Given the description of an element on the screen output the (x, y) to click on. 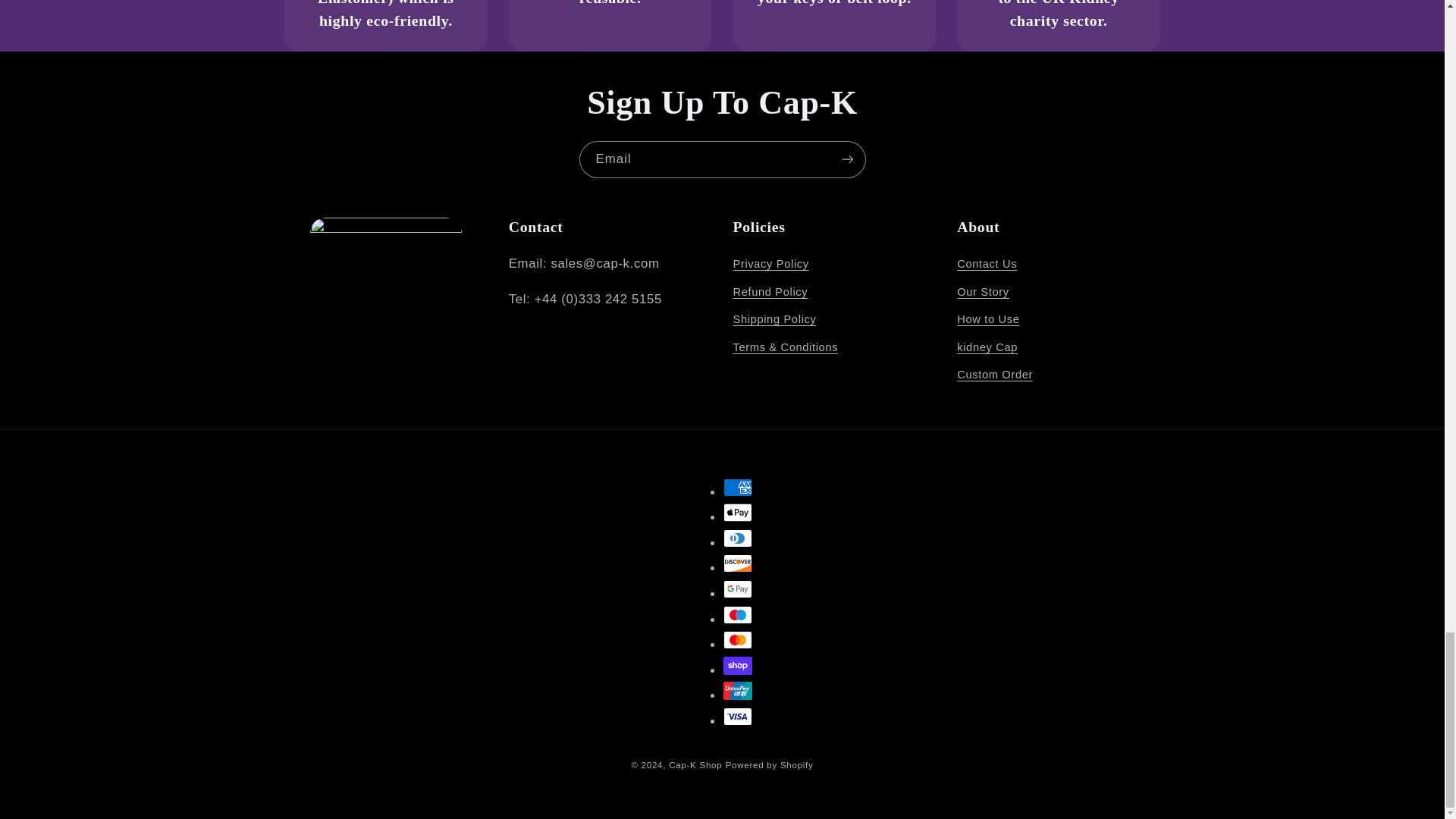
Shop Pay (737, 665)
Mastercard (737, 639)
American Express (737, 487)
Discover (737, 563)
Visa (737, 716)
Union Pay (737, 690)
Google Pay (737, 588)
Apple Pay (737, 512)
Diners Club (737, 538)
Maestro (737, 615)
